Given the description of an element on the screen output the (x, y) to click on. 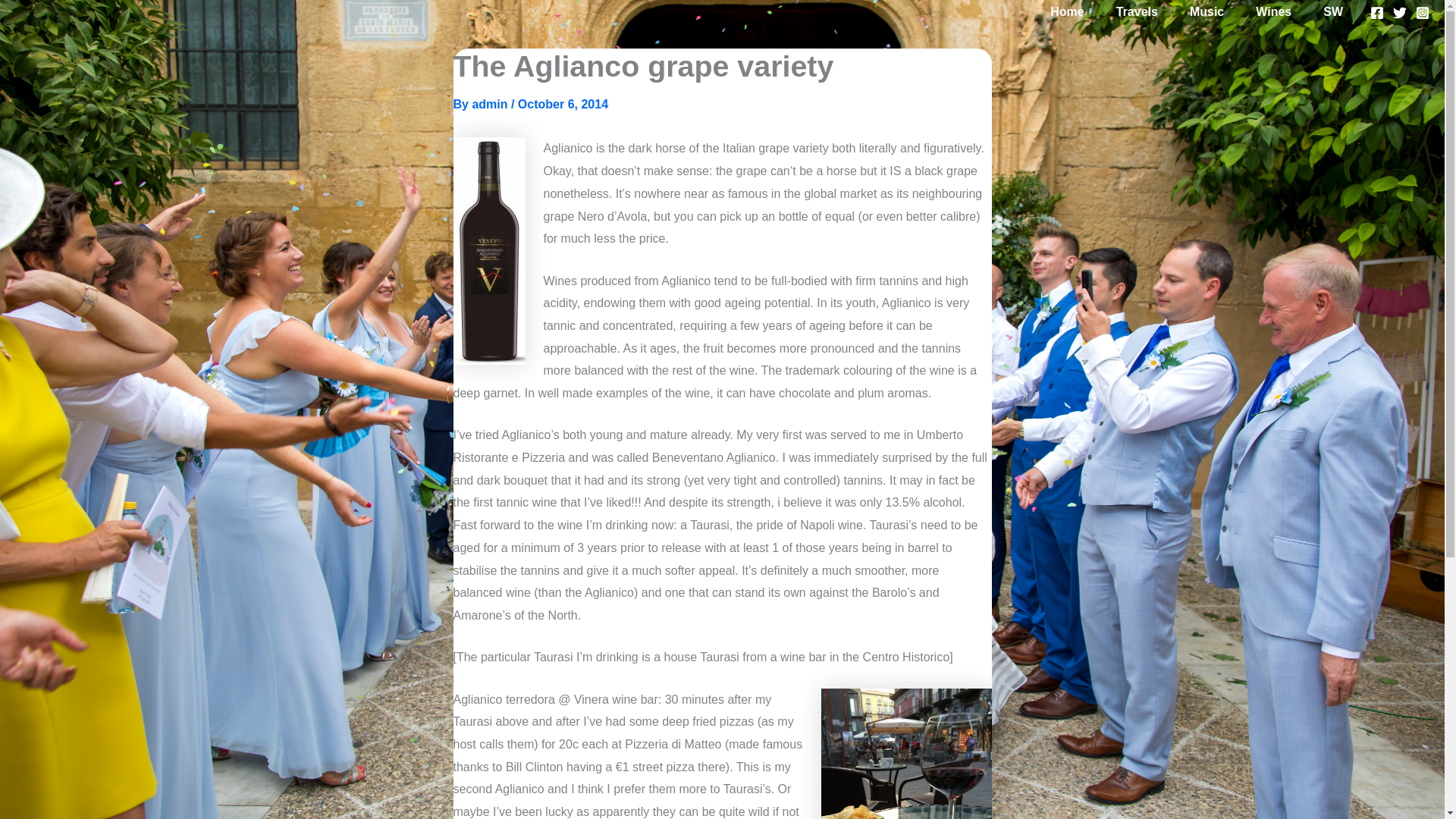
Wines (1273, 11)
View all posts by admin (491, 103)
Travels (1136, 11)
Home (1067, 11)
Music (1206, 11)
SW (1333, 11)
